Given the description of an element on the screen output the (x, y) to click on. 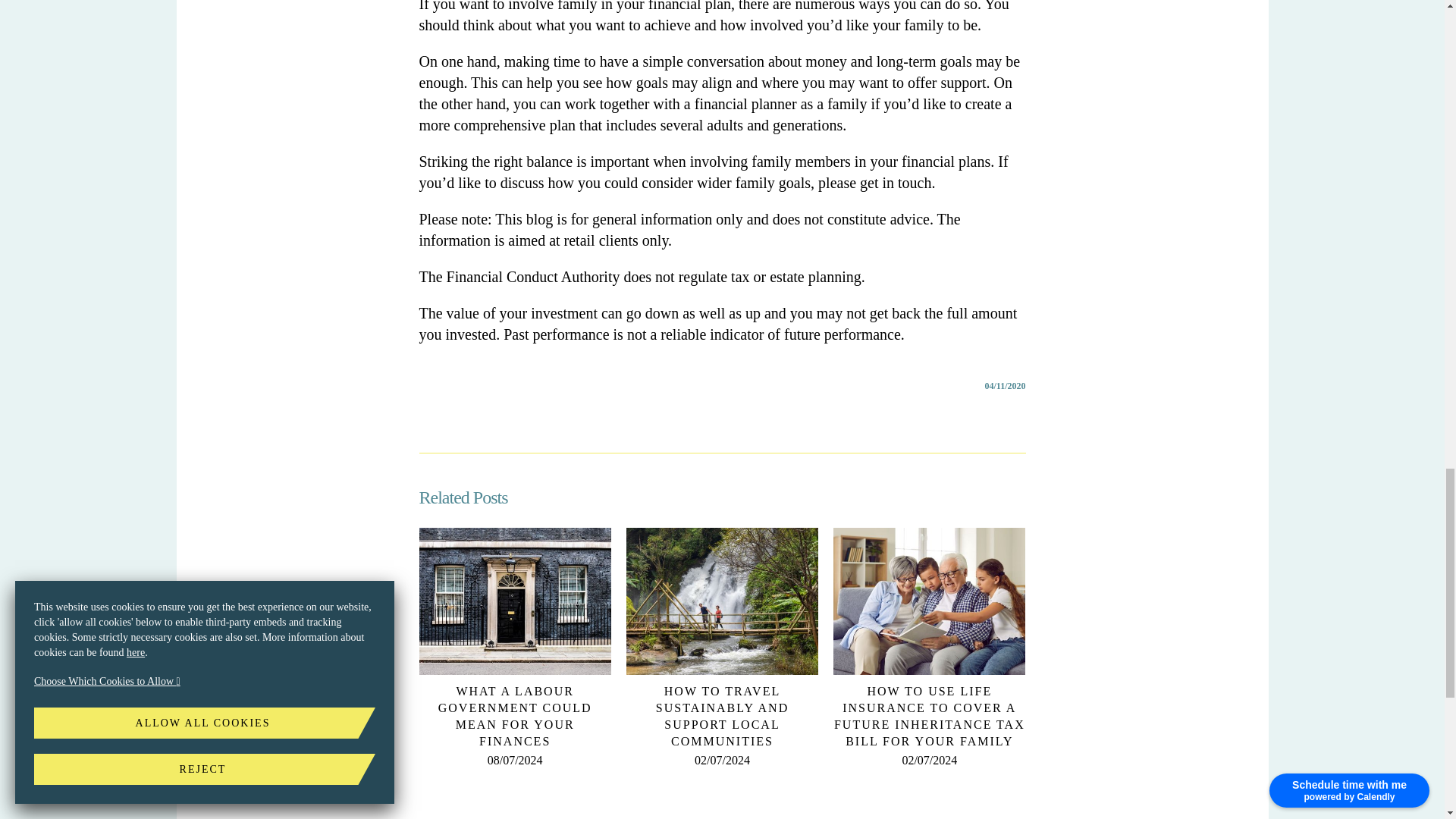
How to travel sustainably and support local communities (722, 715)
What a Labour government could mean for your finances (515, 715)
